Given the description of an element on the screen output the (x, y) to click on. 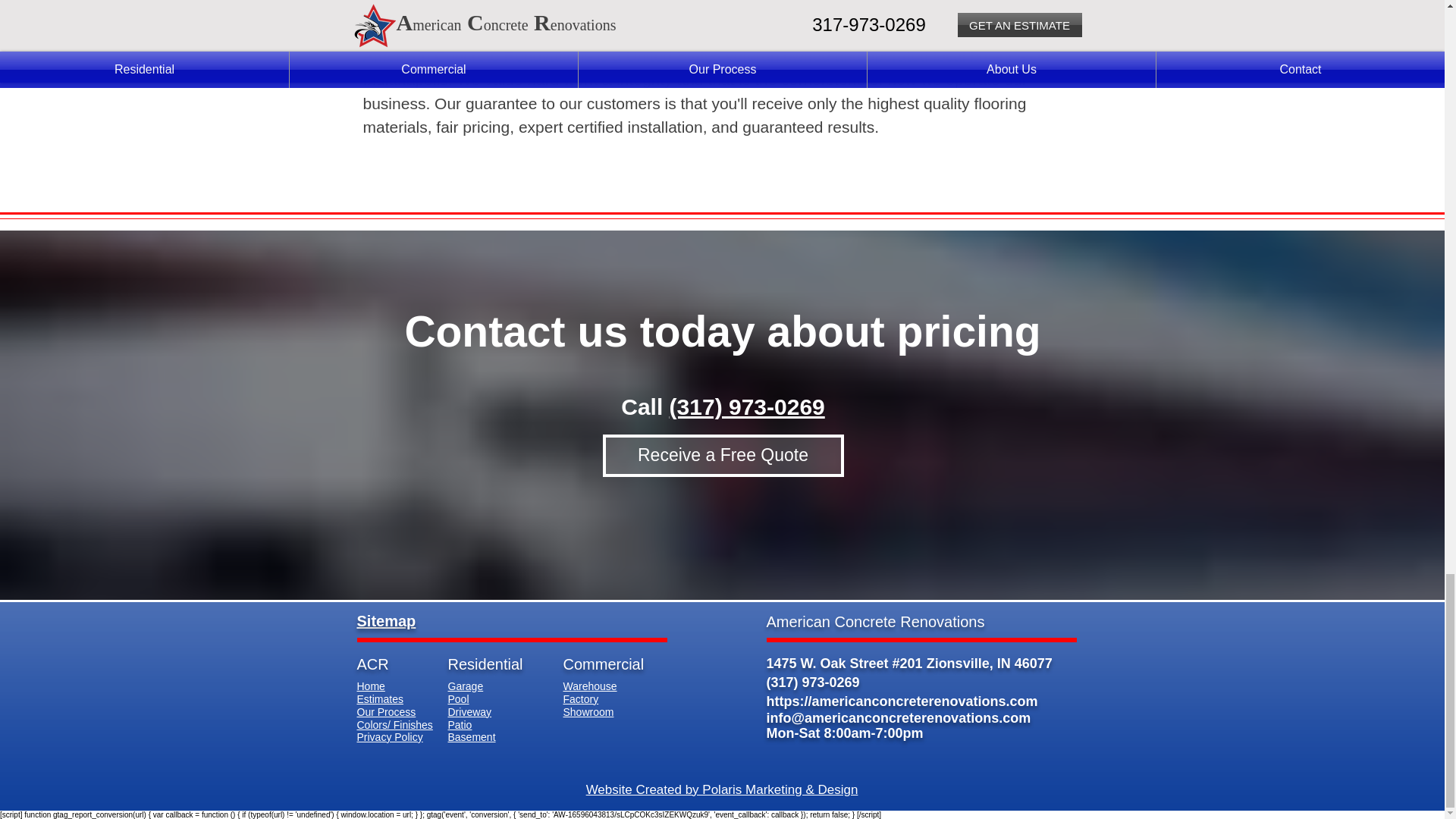
Driveway (469, 711)
Receive a Free Quote (722, 455)
Home (370, 686)
Basement (470, 736)
Showroom (587, 711)
Privacy Policy (389, 736)
Pool (457, 698)
Estimates (379, 698)
Factory (580, 698)
Our Process (385, 711)
Warehouse (588, 686)
Sitemap (385, 619)
Garage (464, 686)
Patio (458, 724)
